Given the description of an element on the screen output the (x, y) to click on. 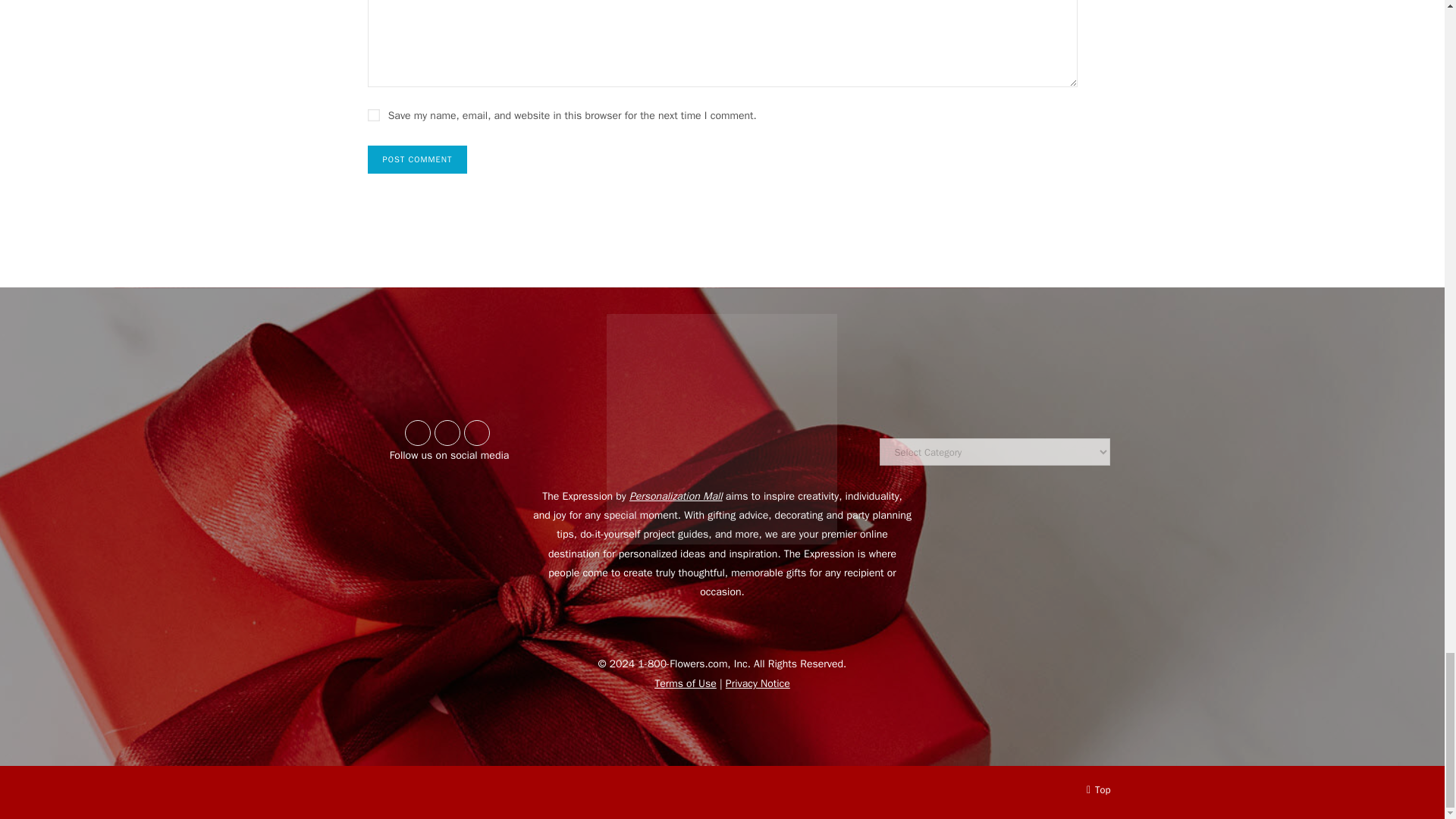
yes (372, 114)
Post Comment (416, 159)
